Given the description of an element on the screen output the (x, y) to click on. 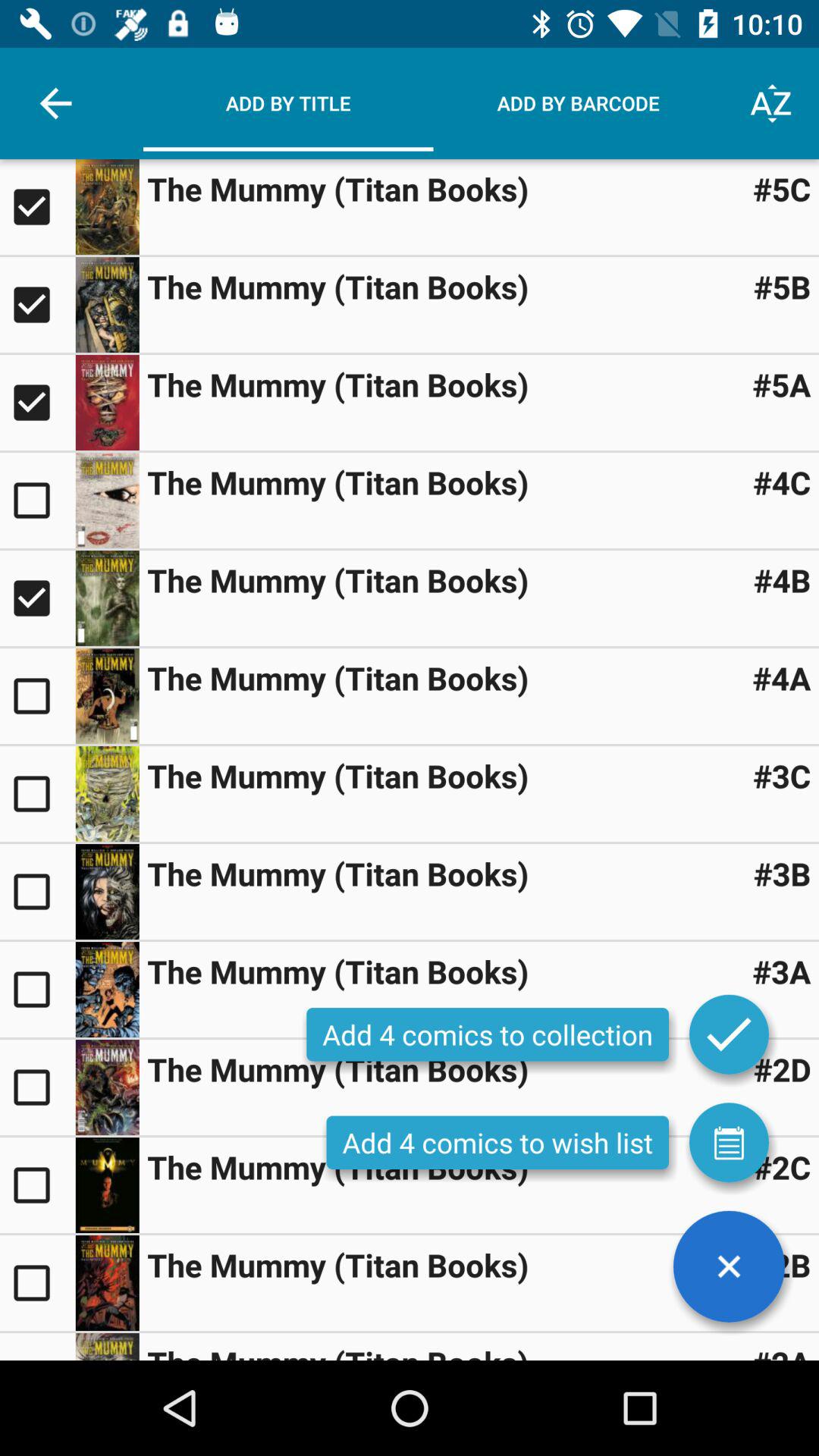
scroll until #3a item (781, 971)
